Given the description of an element on the screen output the (x, y) to click on. 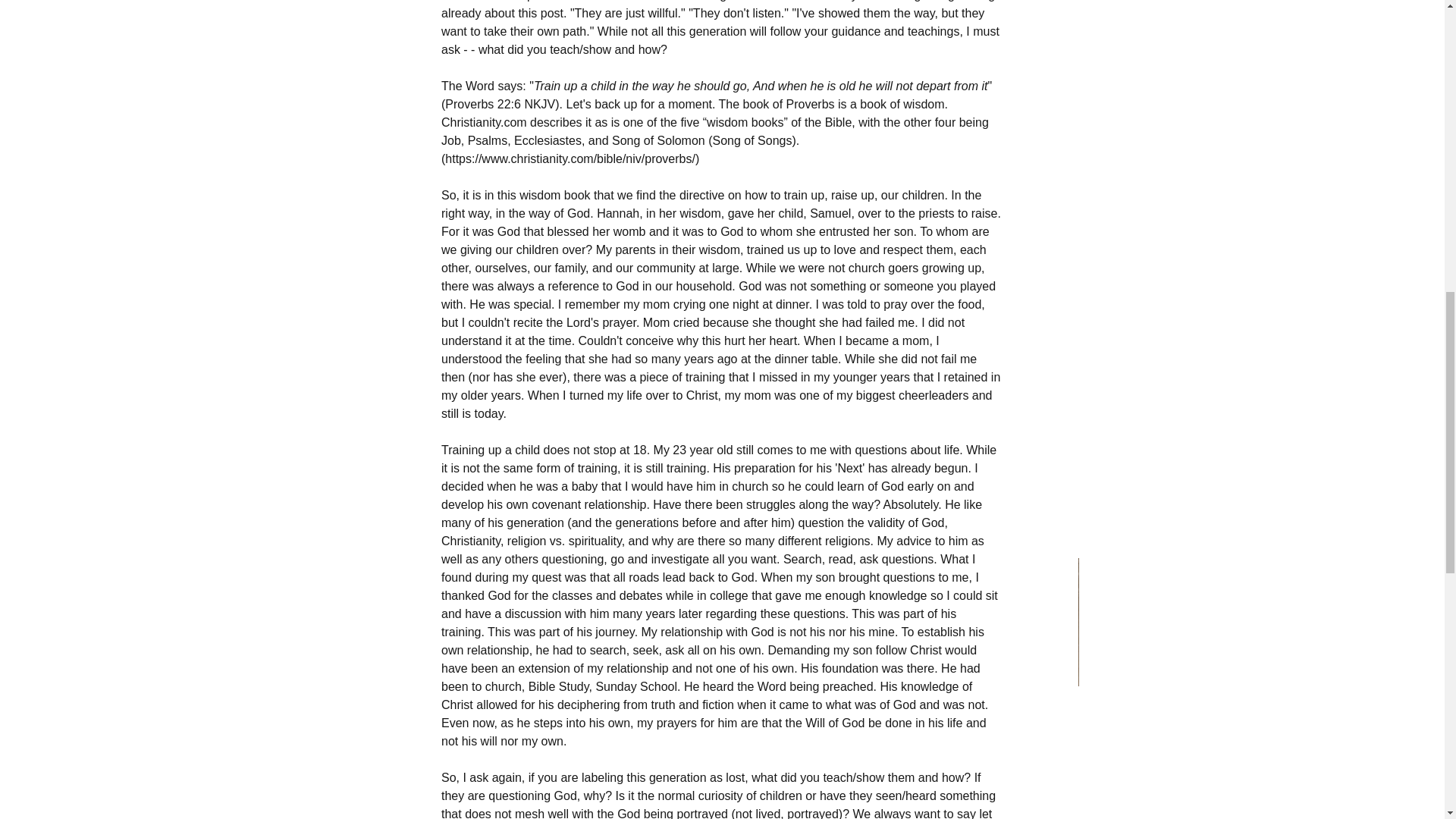
hristianity.com (487, 122)
Fake It Until You Make It Is A Lie (964, 731)
Psalm 73 (721, 720)
It's the Whisper (479, 743)
